Given the description of an element on the screen output the (x, y) to click on. 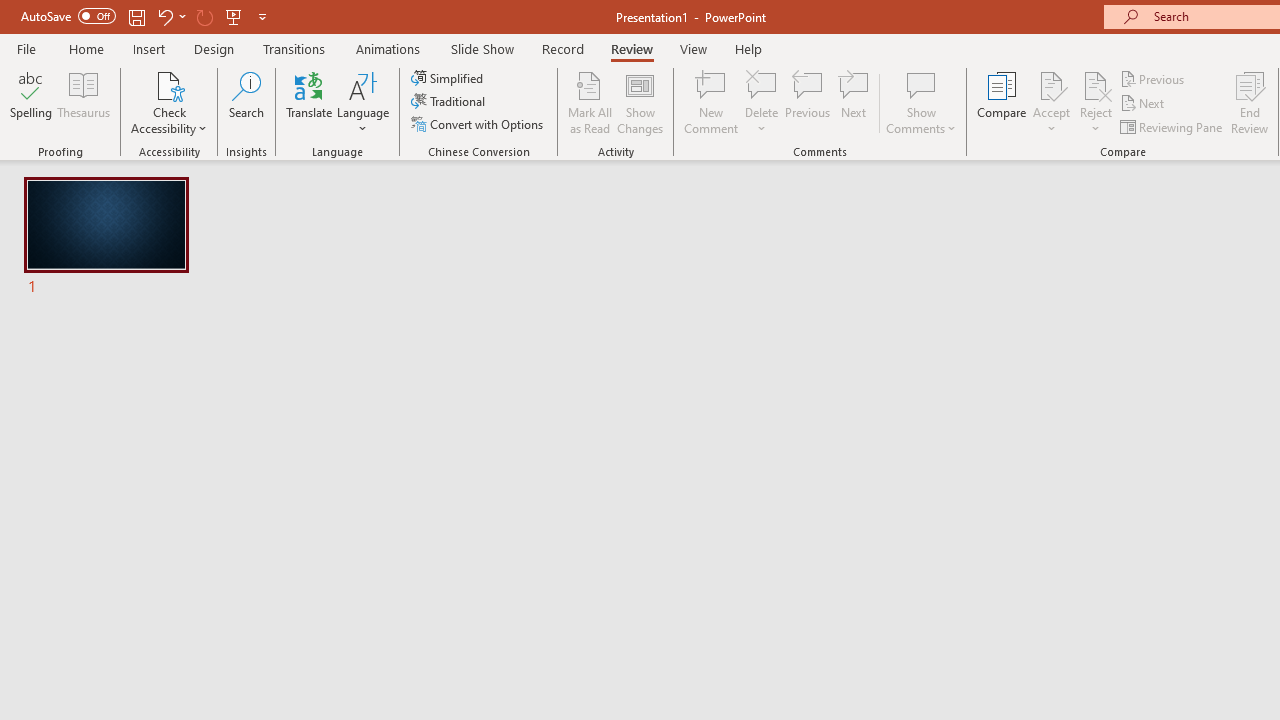
Compare (1002, 102)
Delete (762, 84)
Reject Change (1096, 84)
Check Accessibility (169, 102)
Search (246, 102)
Thesaurus... (83, 102)
Spelling... (31, 102)
Language (363, 102)
Show Changes (639, 102)
Convert with Options... (479, 124)
